Given the description of an element on the screen output the (x, y) to click on. 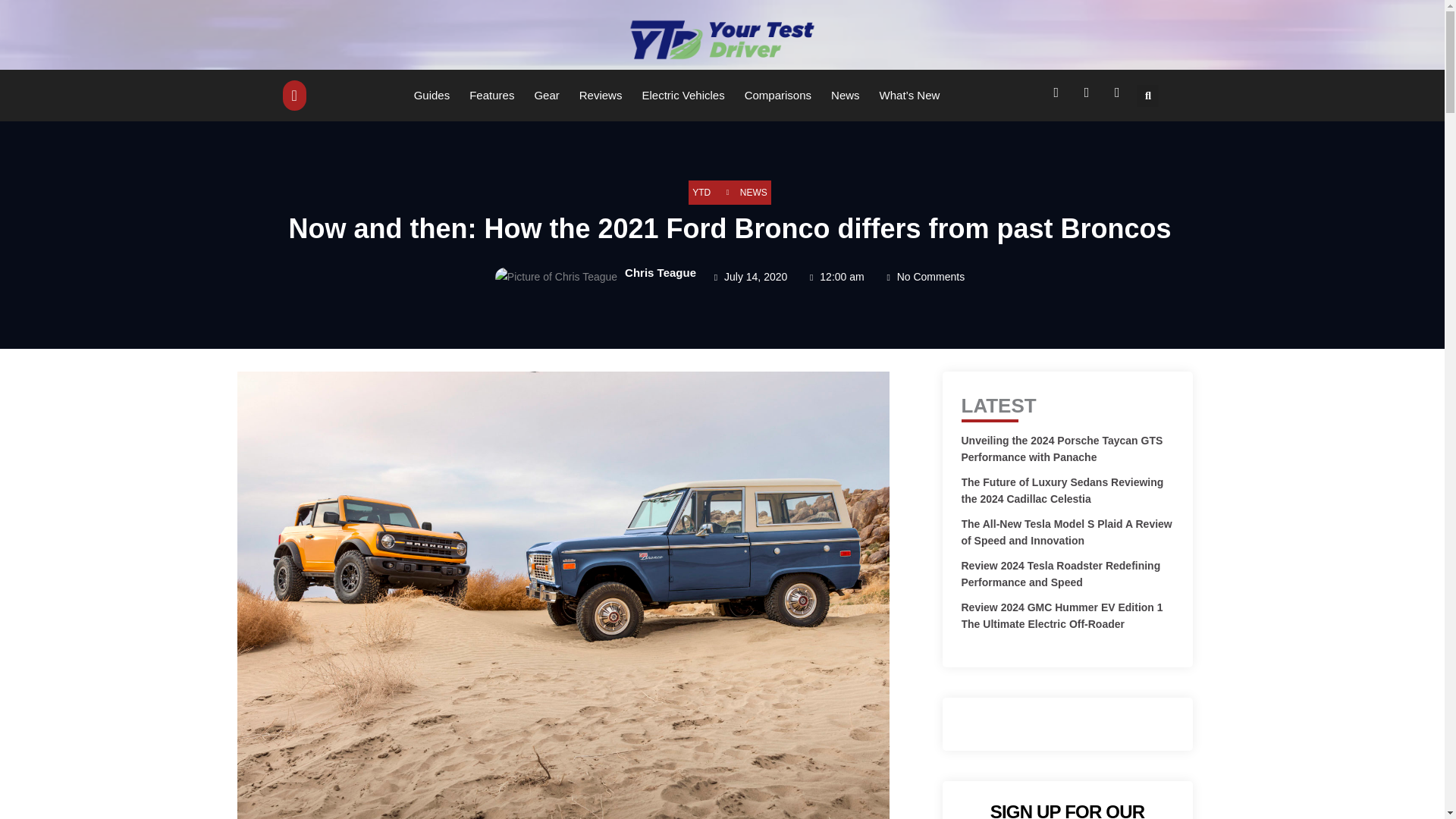
Guides (432, 95)
YTD (701, 192)
No Comments (923, 277)
Reviews (601, 95)
Twitter (1089, 94)
Comparisons (777, 95)
Facebook (1058, 94)
Features (491, 95)
Instagram (1119, 94)
July 14, 2020 (749, 277)
Electric Vehicles (682, 95)
